Given the description of an element on the screen output the (x, y) to click on. 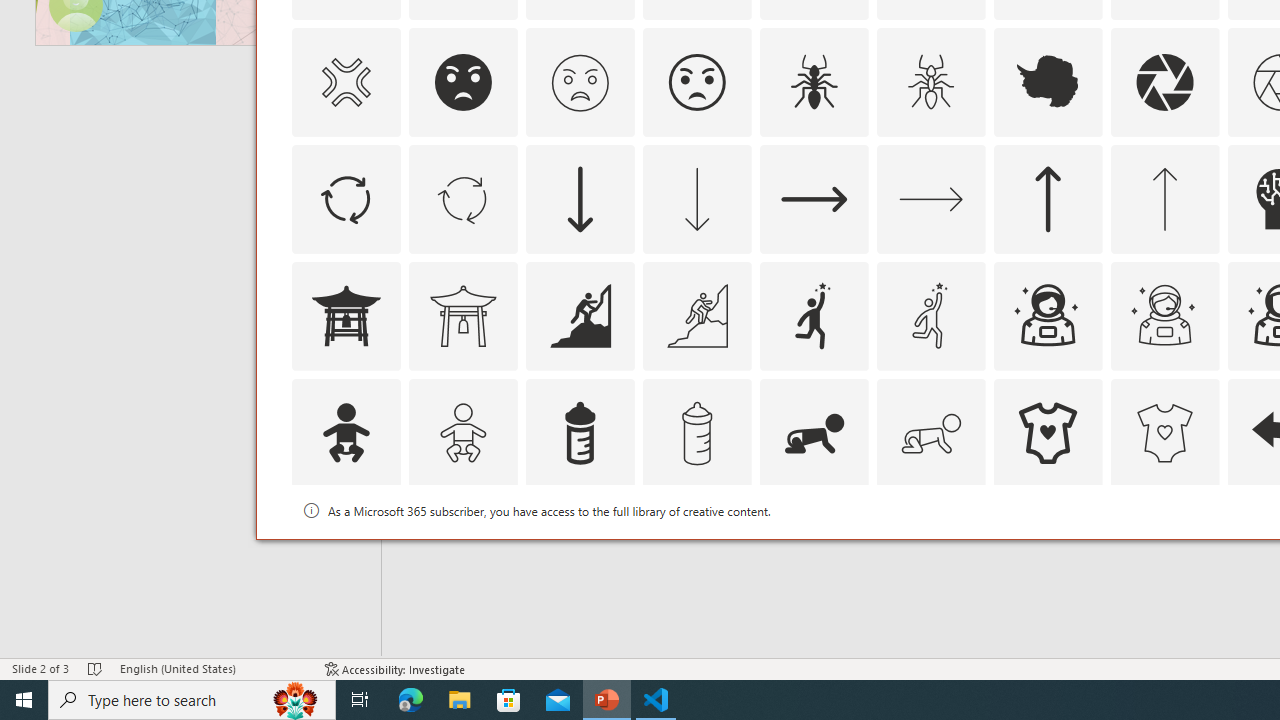
AutomationID: Icons_BabyOnesie (1048, 432)
AutomationID: Icons_BabyOnesie_M (1164, 432)
AutomationID: Icons_Ant_M (930, 82)
AutomationID: Icons_Badge2_M (579, 550)
AutomationID: Icons_Aspiration1_M (930, 316)
AutomationID: Icons_Ant (813, 82)
